Given the description of an element on the screen output the (x, y) to click on. 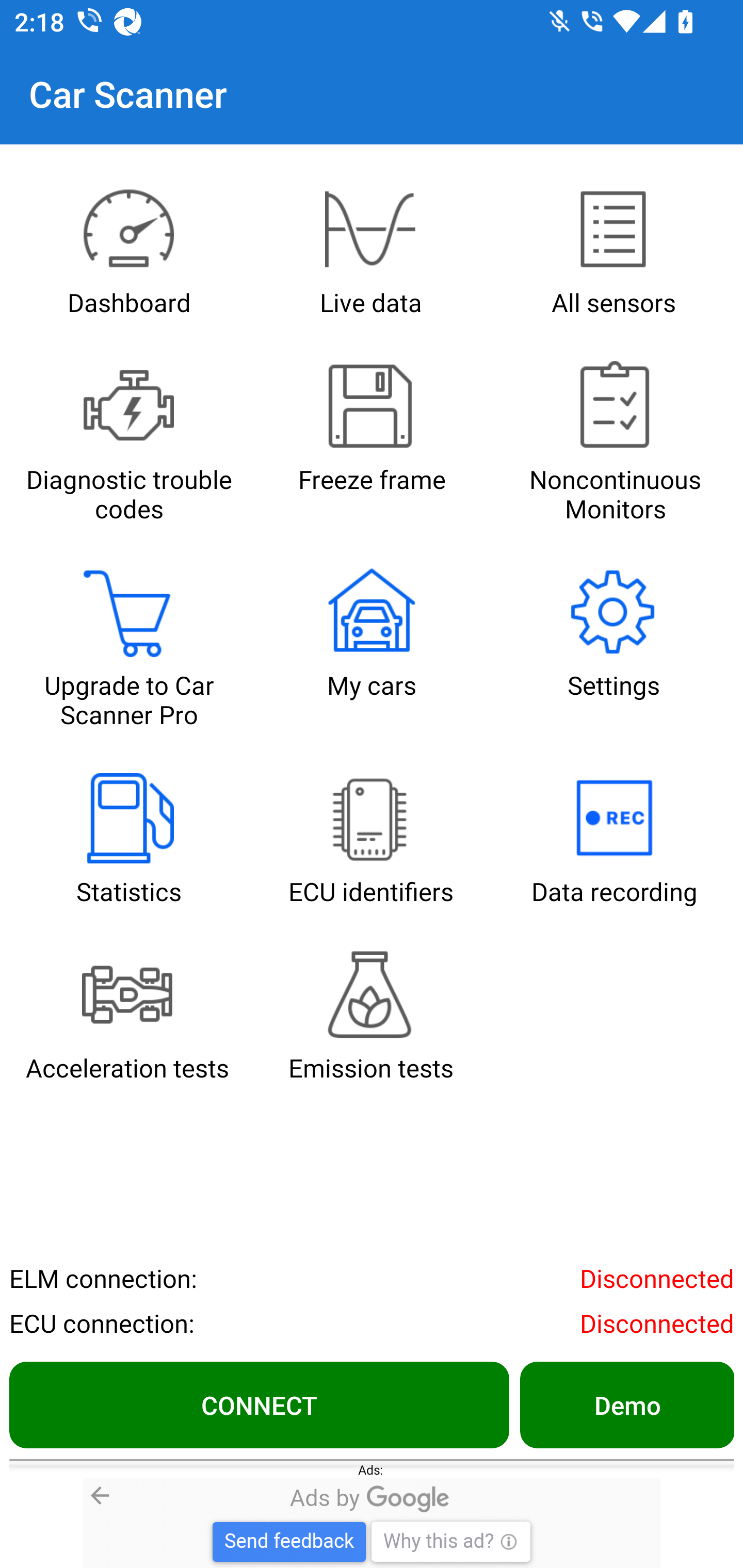
CONNECT (258, 1404)
Demo (627, 1404)
